Given the description of an element on the screen output the (x, y) to click on. 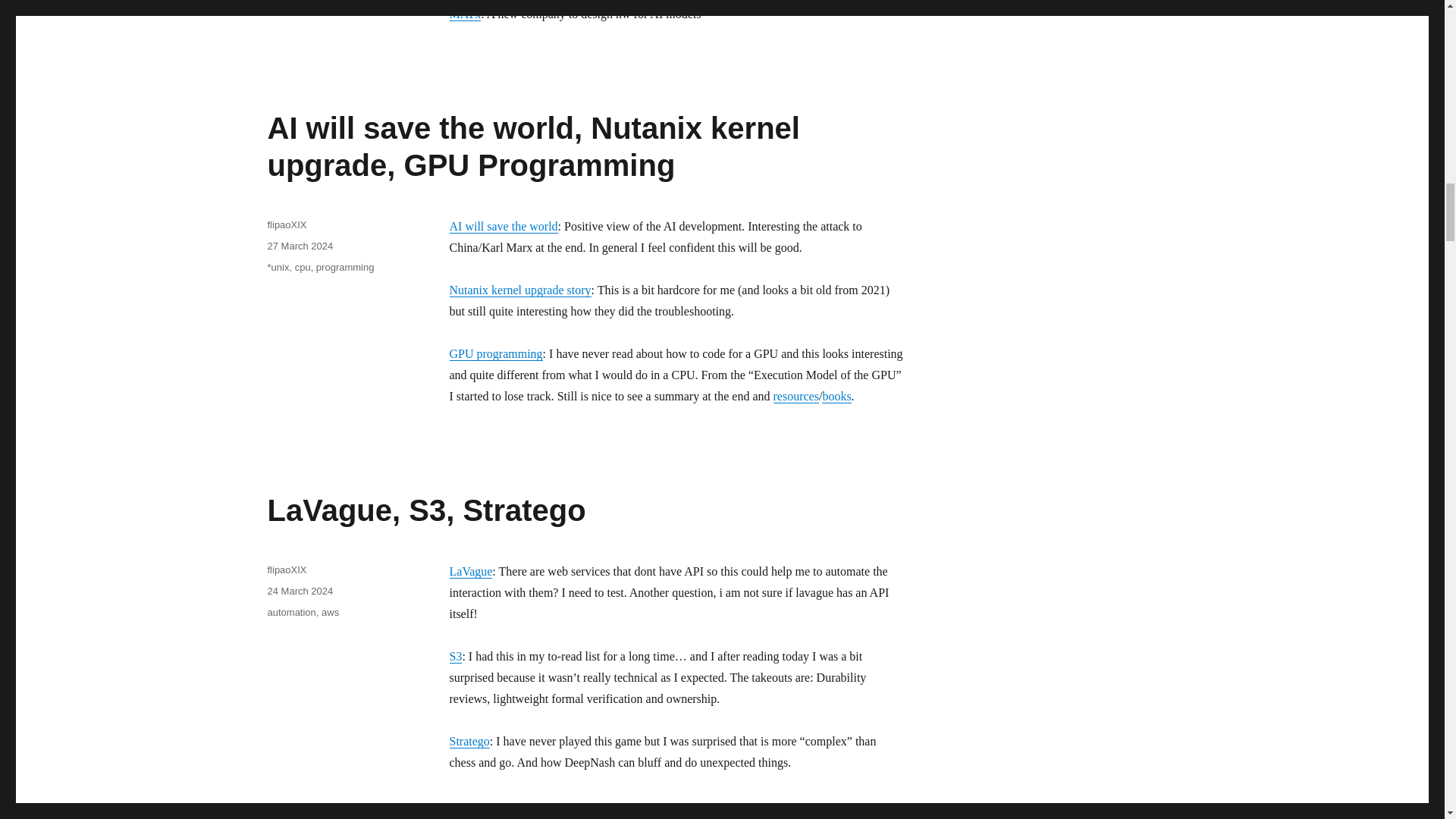
GPU programming (494, 353)
cpu (303, 266)
LaVague (470, 571)
27 March 2024 (299, 245)
AI will save the world (502, 226)
MATx (464, 13)
Nutanix kernel upgrade story (519, 289)
LaVague, S3, Stratego (425, 510)
resources (795, 395)
books (836, 395)
programming (344, 266)
flipaoXIX (285, 224)
